Given the description of an element on the screen output the (x, y) to click on. 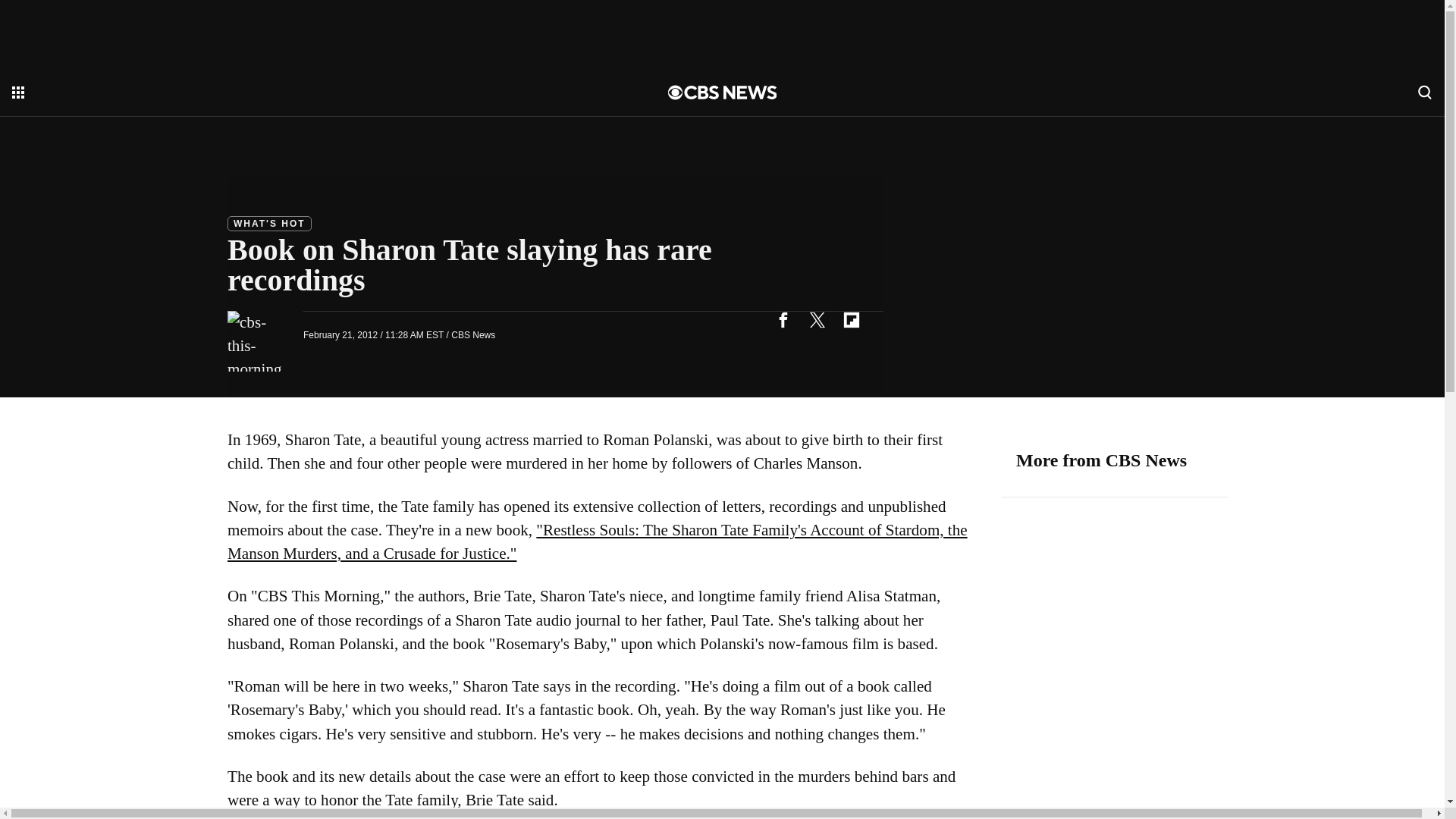
twitter (816, 319)
flipboard (850, 319)
facebook (782, 319)
